Given the description of an element on the screen output the (x, y) to click on. 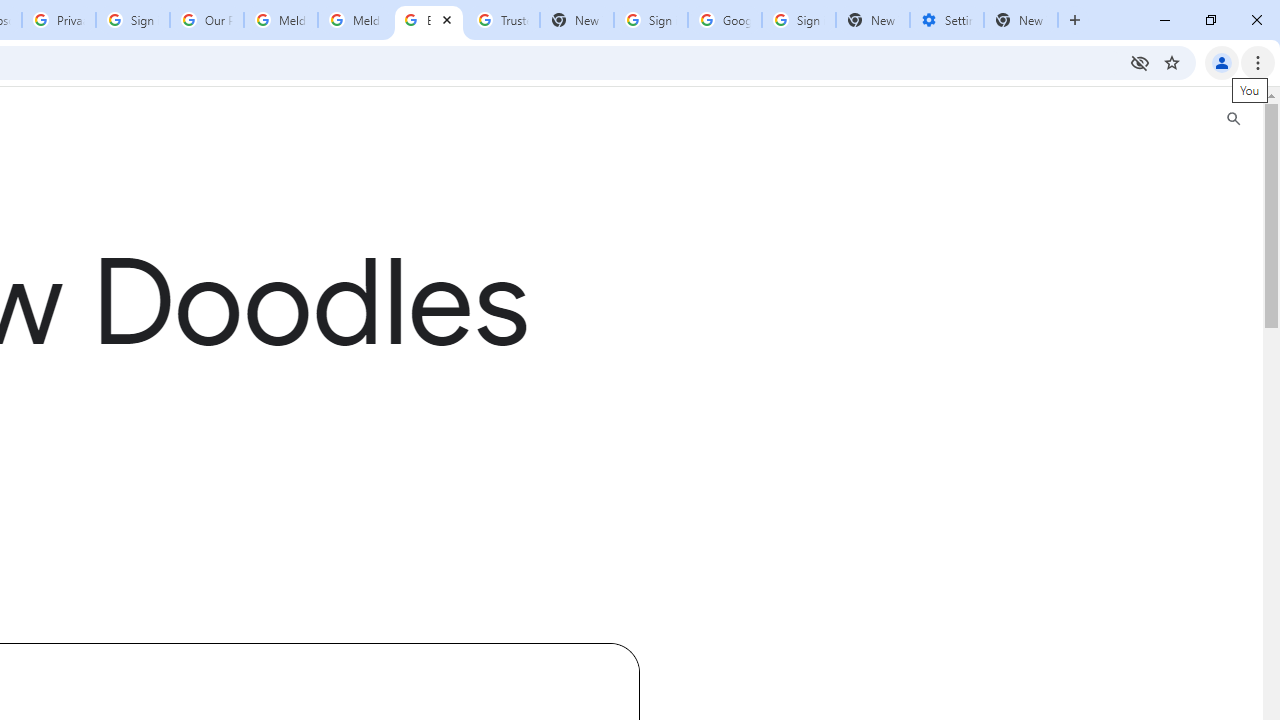
Sign in - Google Accounts (133, 20)
Google Cybersecurity Innovations - Google Safety Center (724, 20)
New Tab (872, 20)
